Given the description of an element on the screen output the (x, y) to click on. 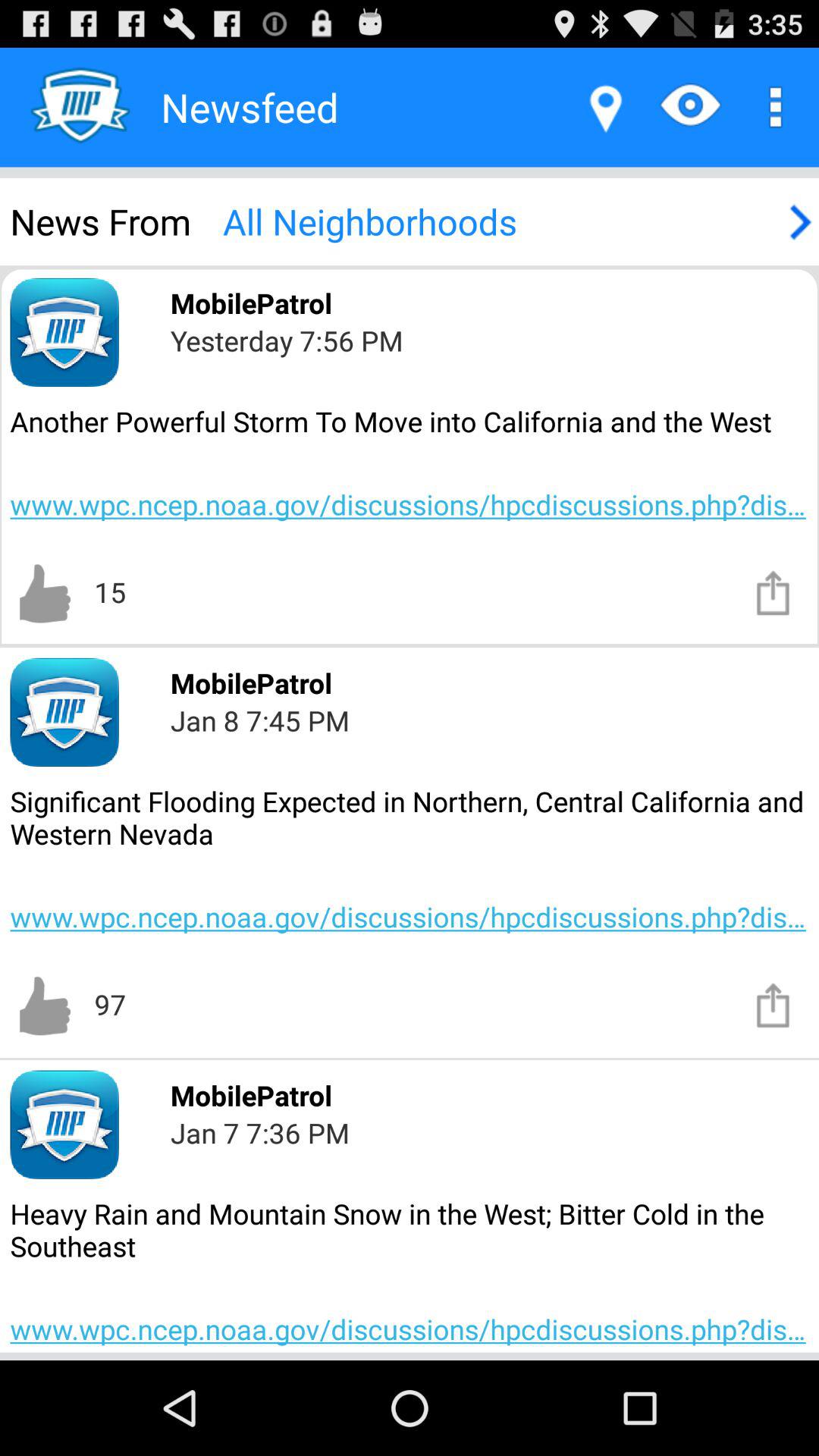
share post (774, 1004)
